Given the description of an element on the screen output the (x, y) to click on. 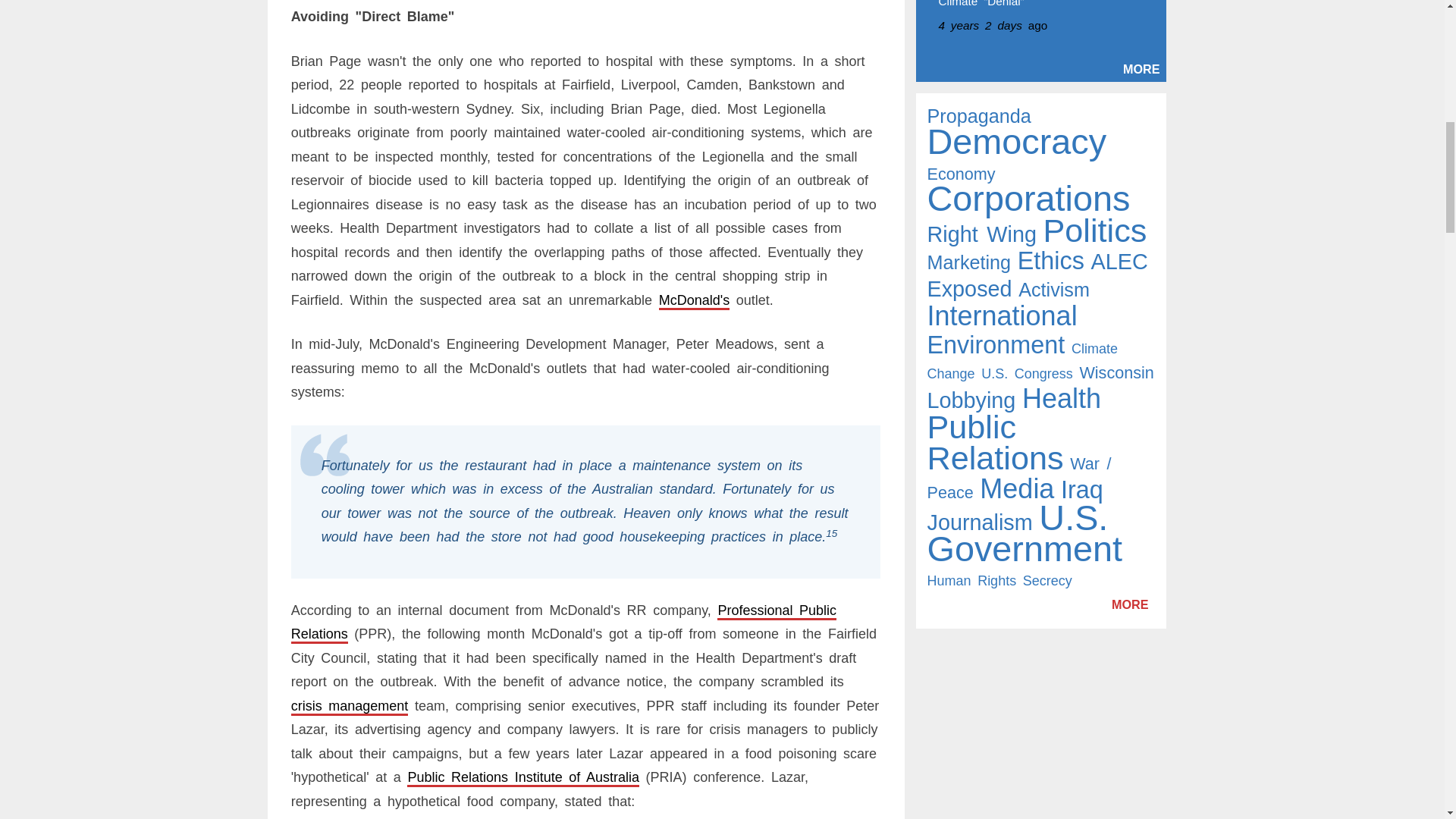
Professional Public Relations (563, 622)
Public Relations Institute of Australia (523, 776)
McDonald's (694, 299)
crisis management (350, 705)
